Given the description of an element on the screen output the (x, y) to click on. 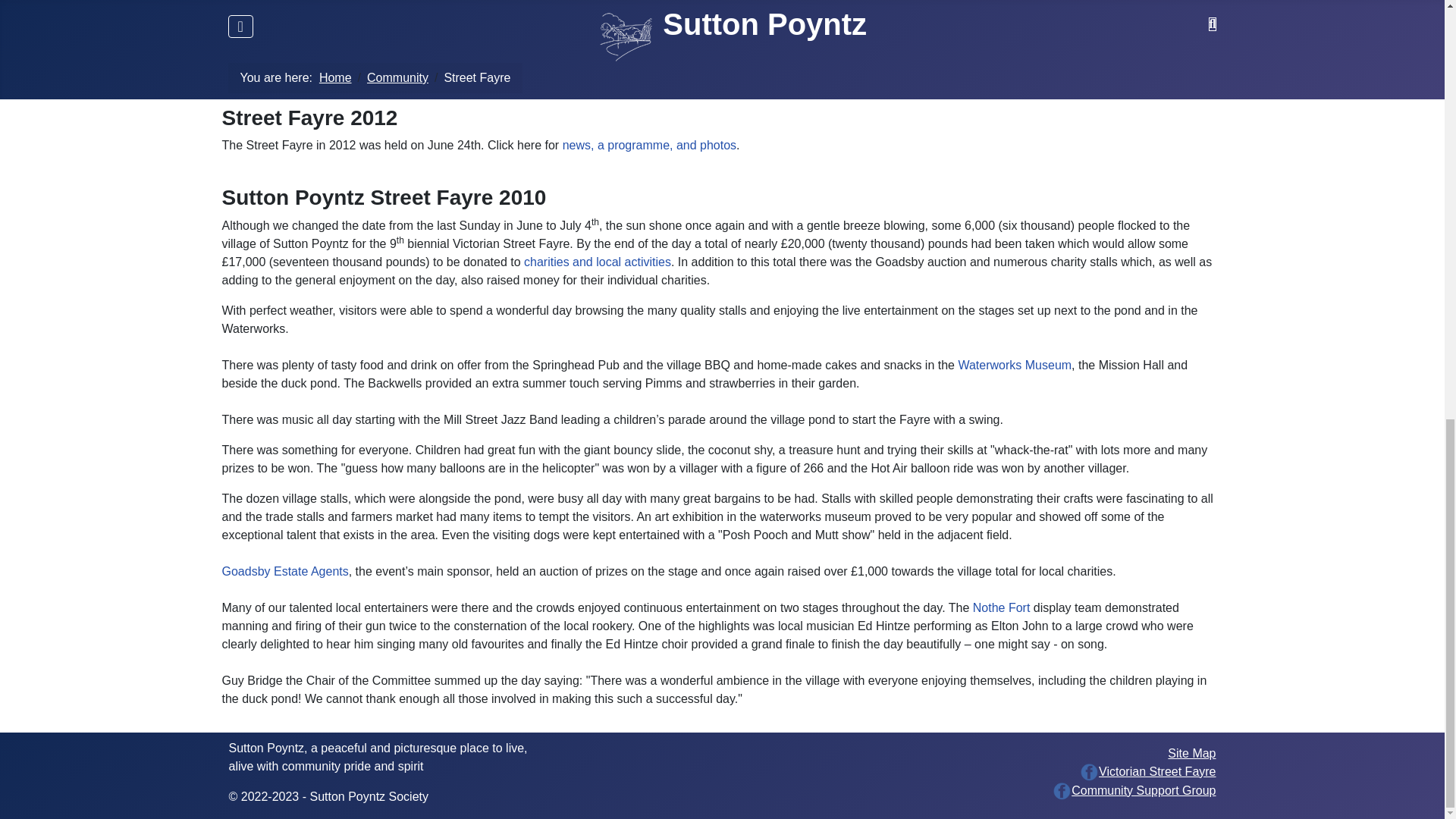
charities and local activities (597, 261)
Street Fayre charities 2010 (597, 261)
2014 Street Fayre - 29 June 2014 (312, 65)
Street Fayre 2014 (312, 65)
Goadsby Estate Agents (284, 571)
Waterworks Museum (1014, 364)
news, a programme, and photos (649, 144)
Street Fayre 2012 (649, 144)
Nothe Fort (1001, 607)
